Given the description of an element on the screen output the (x, y) to click on. 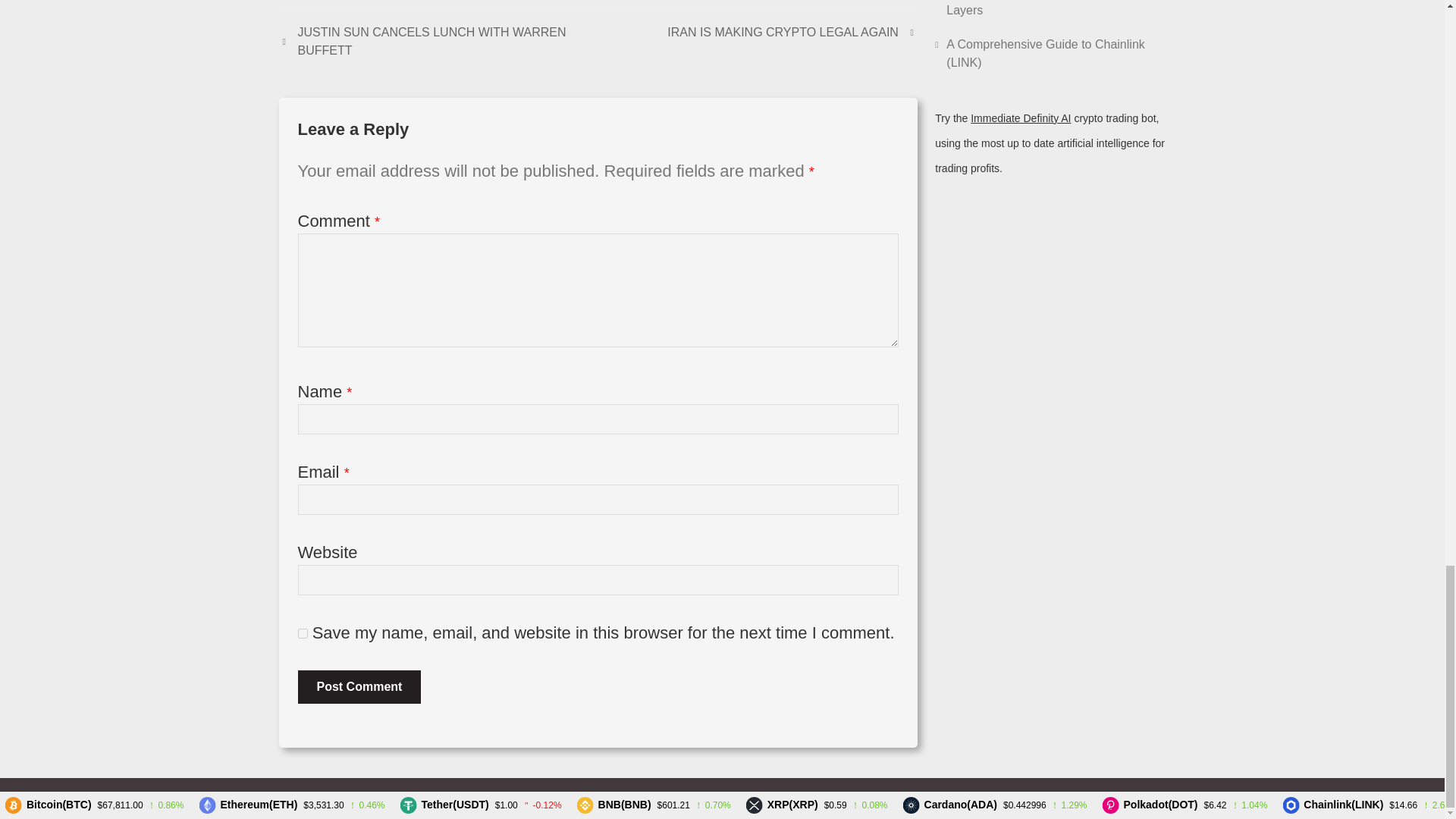
yes (302, 633)
Post Comment (358, 686)
Post Comment (358, 686)
IRAN IS MAKING CRYPTO LEGAL AGAIN (791, 32)
JUSTIN SUN CANCELS LUNCH WITH WARREN BUFFETT (438, 41)
